Given the description of an element on the screen output the (x, y) to click on. 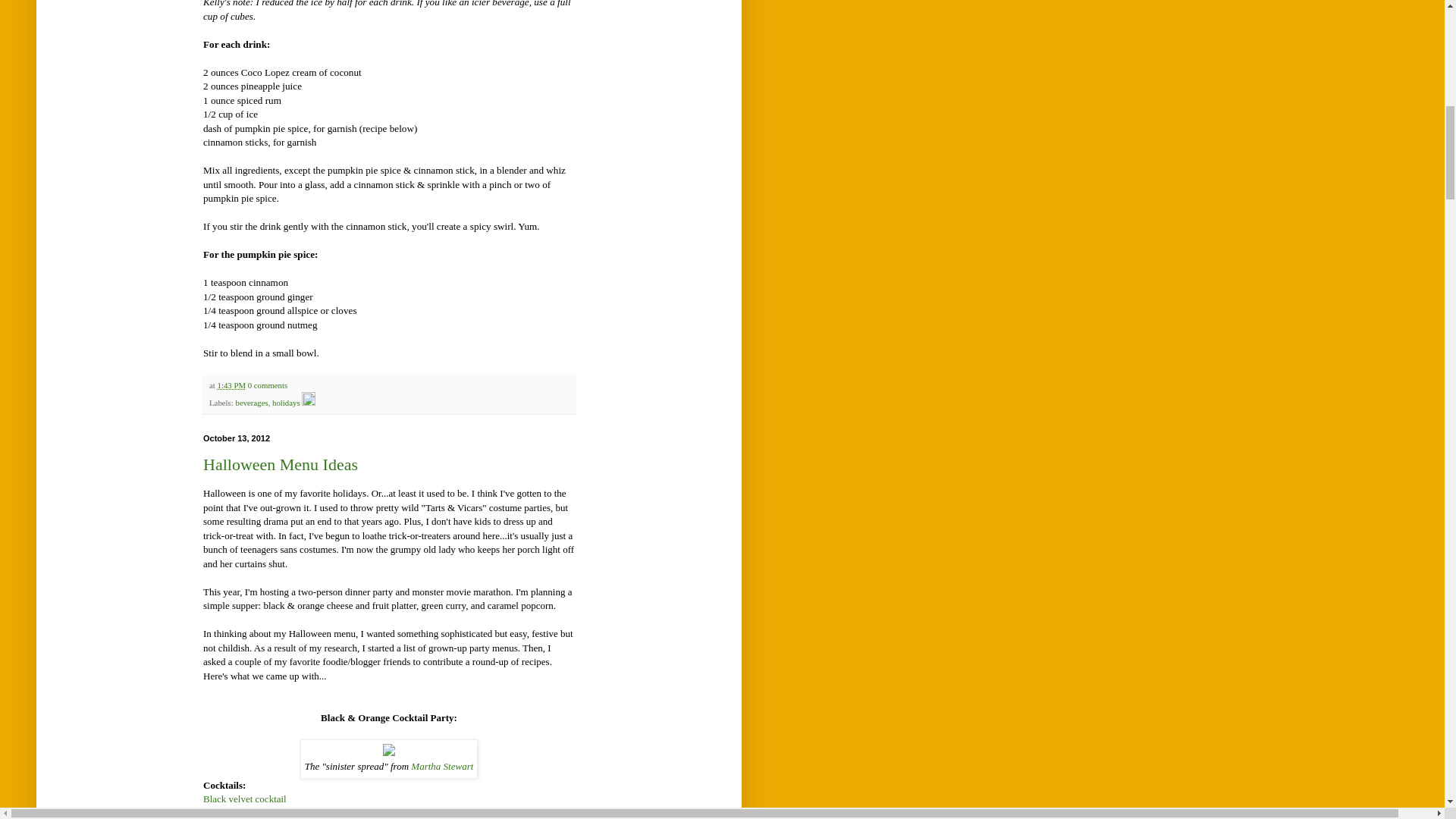
Blood orange margarita (250, 813)
Black velvet cocktail (244, 798)
Edit Post (308, 402)
holidays (285, 402)
1:43 PM (231, 384)
permanent link (231, 384)
0 comments (266, 384)
Halloween Menu Ideas (280, 464)
Martha Stewart (441, 766)
beverages (250, 402)
